Given the description of an element on the screen output the (x, y) to click on. 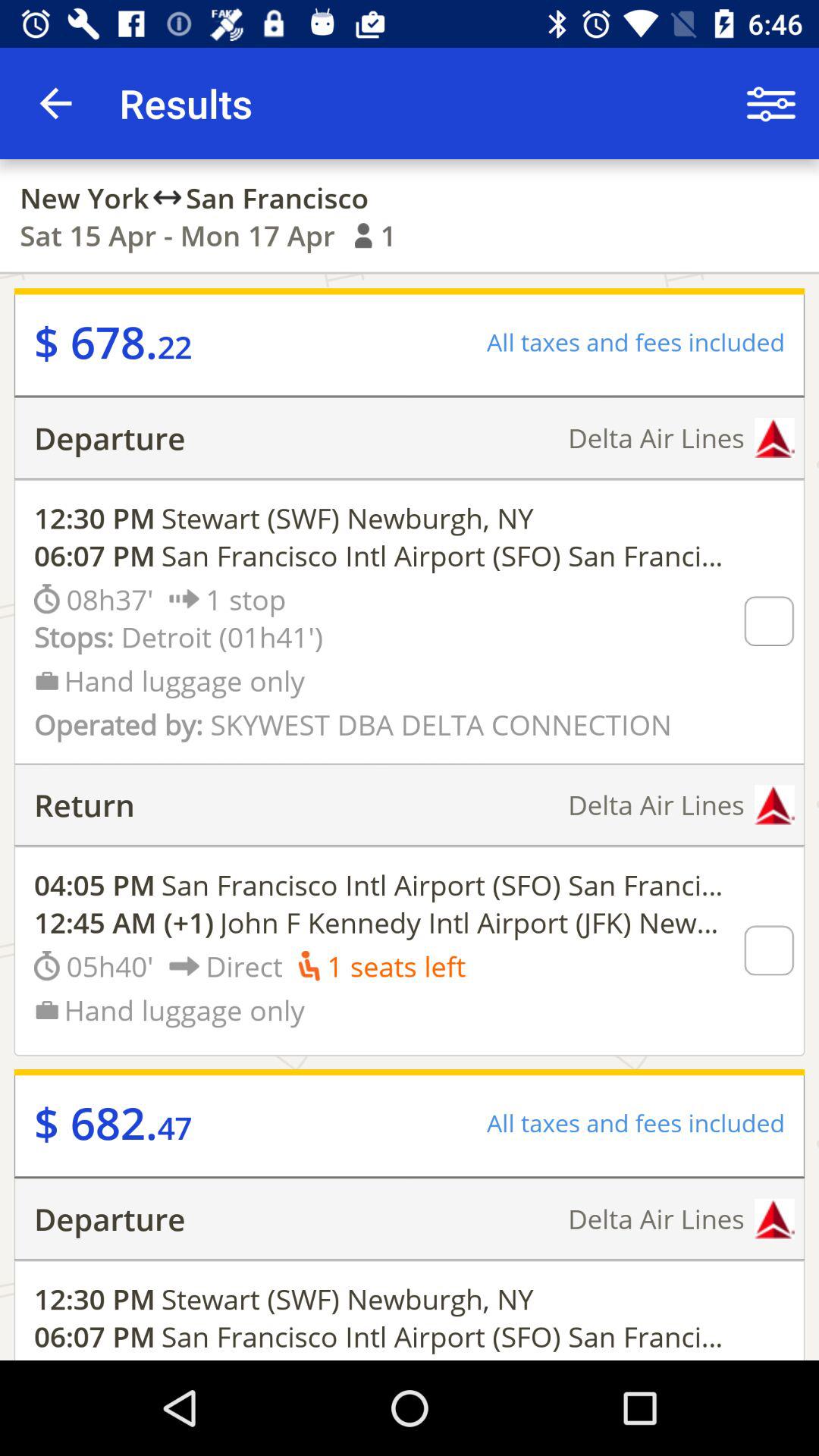
turn on the item next to the results (771, 103)
